Given the description of an element on the screen output the (x, y) to click on. 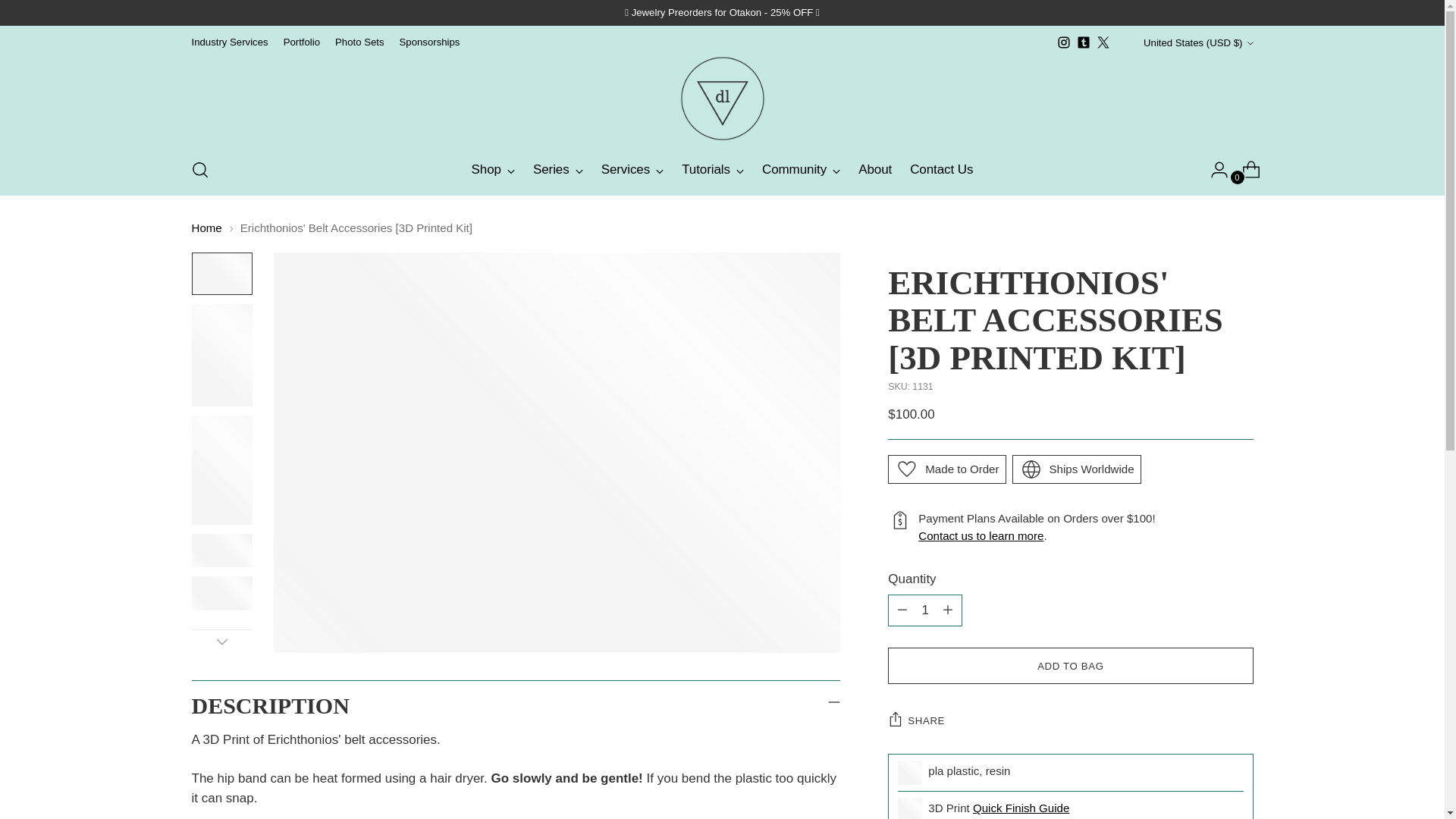
Down (220, 640)
Industry Services (228, 41)
Quick Finishing Guide - 3D Printed and Resin Kits (1020, 807)
1 (925, 610)
Sponsorships (429, 41)
Photo Sets (359, 41)
DangerousLadies on Twitter (1102, 42)
DangerousLadies on Instagram (1063, 42)
Portfolio (301, 41)
DangerousLadies on Tumblr (1083, 42)
